Given the description of an element on the screen output the (x, y) to click on. 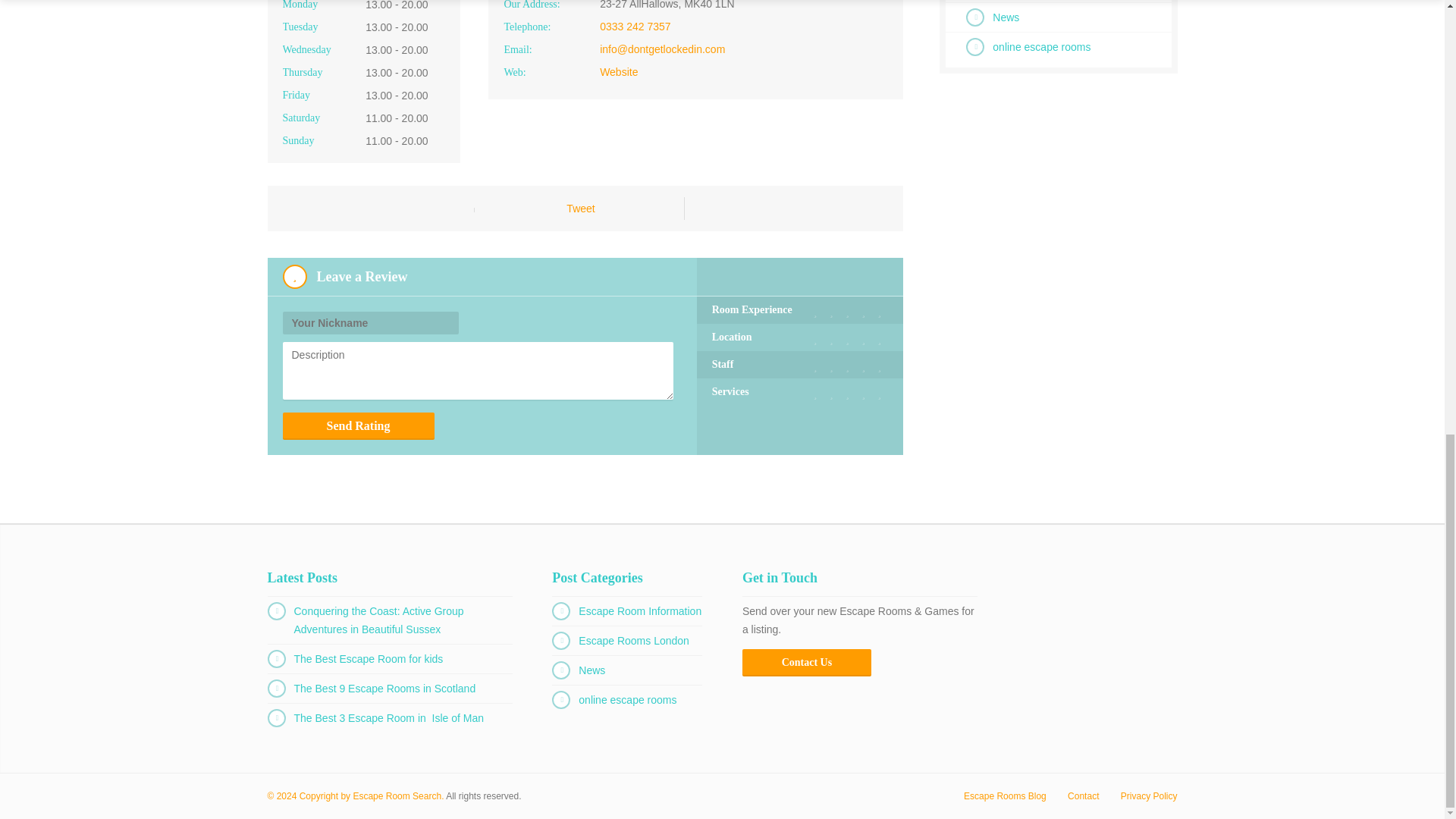
online escape rooms (1041, 46)
Escape Room Information (639, 611)
Website (618, 71)
News (591, 670)
Contact (1083, 796)
Send Rating (357, 425)
Escape Rooms London (633, 640)
The Best Escape Room for kids (369, 658)
Escape Rooms Blog (1004, 796)
The Best 3 Escape Room in  Isle of Man (389, 717)
News (1005, 17)
Tweet (580, 208)
Contact Us (806, 662)
The Best 9 Escape Rooms in Scotland (385, 688)
